Given the description of an element on the screen output the (x, y) to click on. 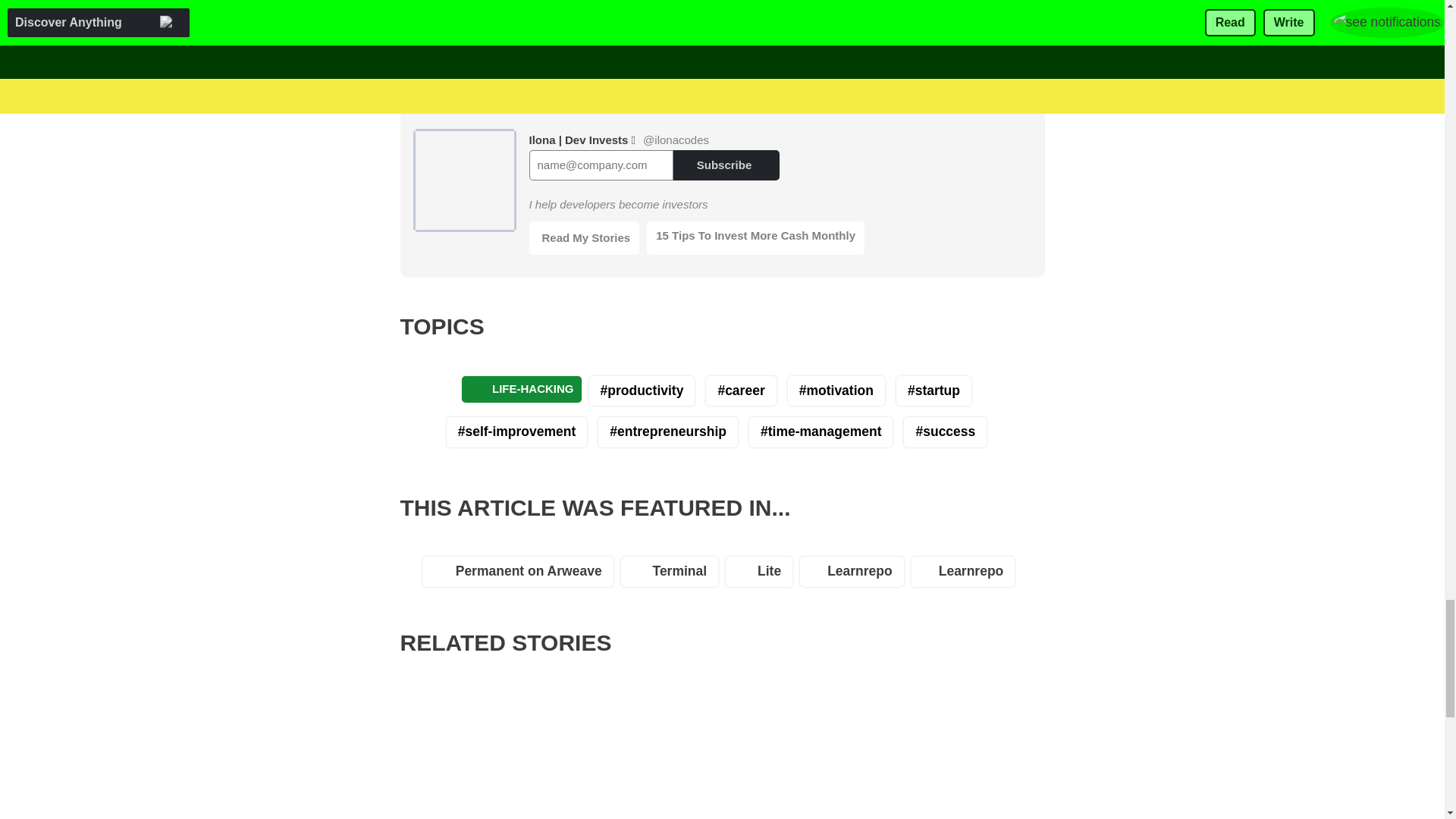
Permanent on Arweave (521, 574)
15 Tips To Invest More Cash Monthly (755, 237)
 Terminal (673, 574)
Learnrepo (967, 574)
 Lite (762, 574)
Read My Stories (584, 237)
LIFE-HACKING (520, 388)
Learnrepo (855, 574)
Subscribe (725, 164)
